Given the description of an element on the screen output the (x, y) to click on. 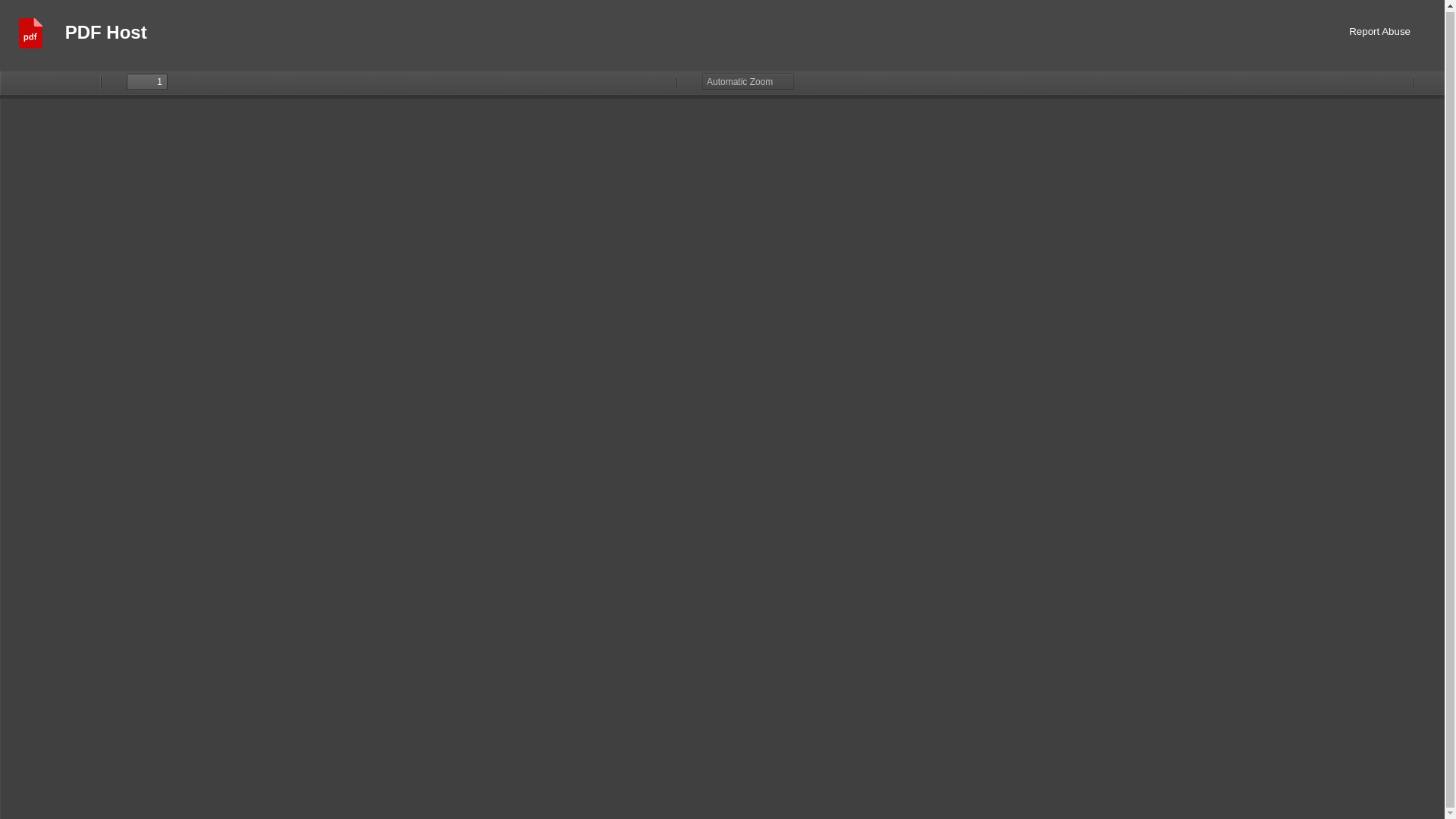
Report Abuse (1379, 34)
Toggle Sidebar (14, 81)
PDF Host (106, 34)
1 (146, 81)
Find in Document (62, 81)
